Given the description of an element on the screen output the (x, y) to click on. 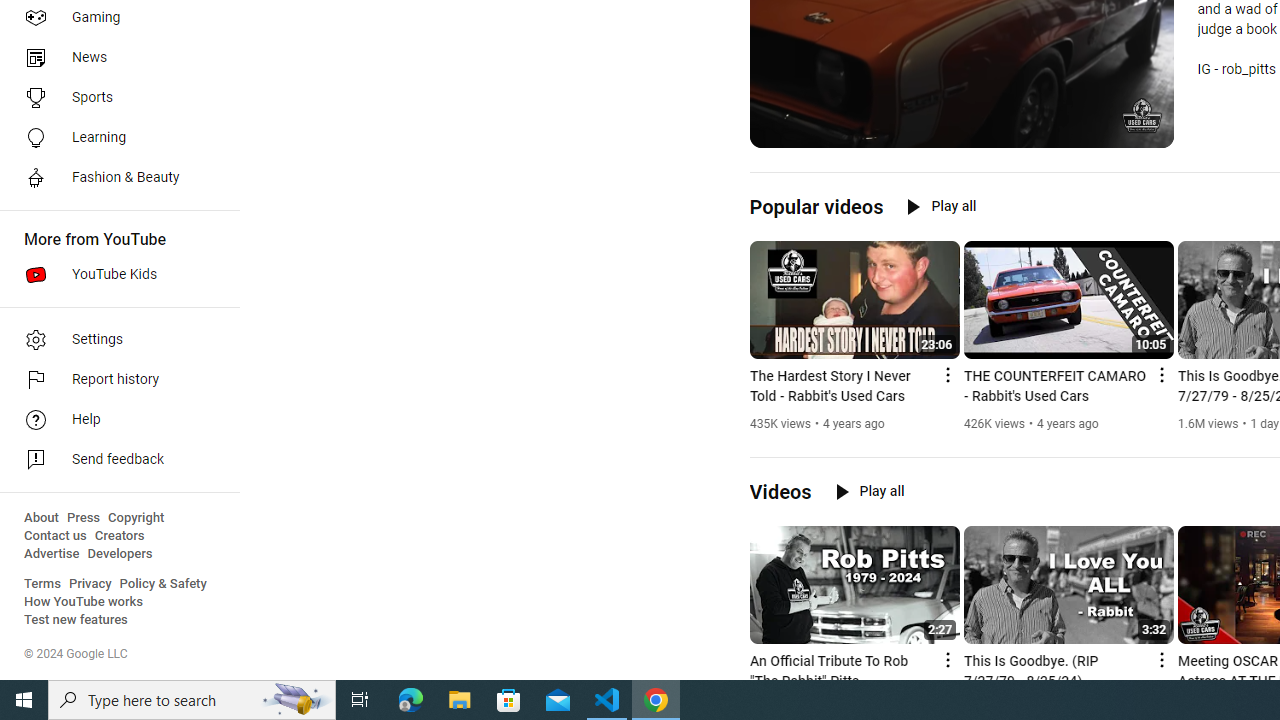
Pause (k) (779, 130)
Channel watermark (1141, 115)
Terms (42, 584)
How YouTube works (83, 602)
Press (83, 518)
Creators (118, 536)
News (113, 57)
Report history (113, 380)
